Given the description of an element on the screen output the (x, y) to click on. 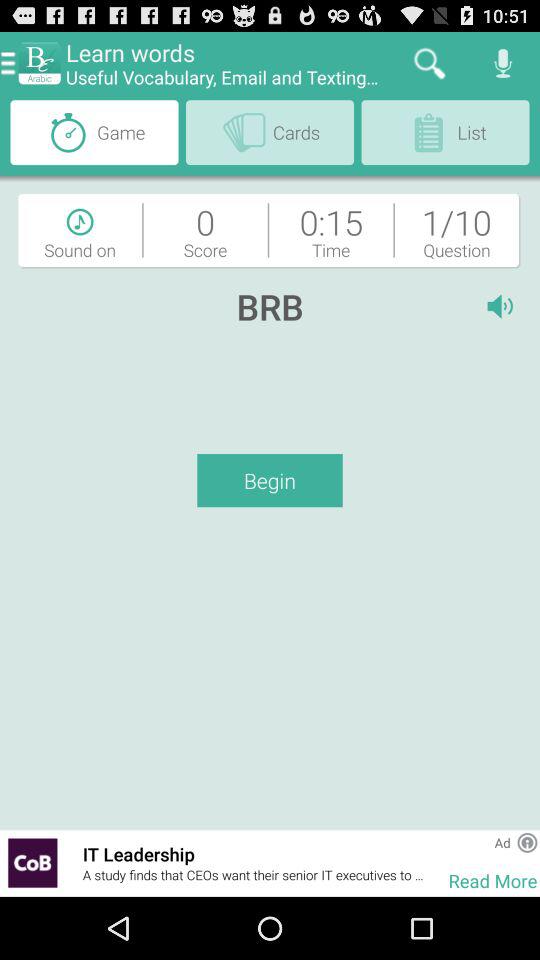
advertising (32, 862)
